Given the description of an element on the screen output the (x, y) to click on. 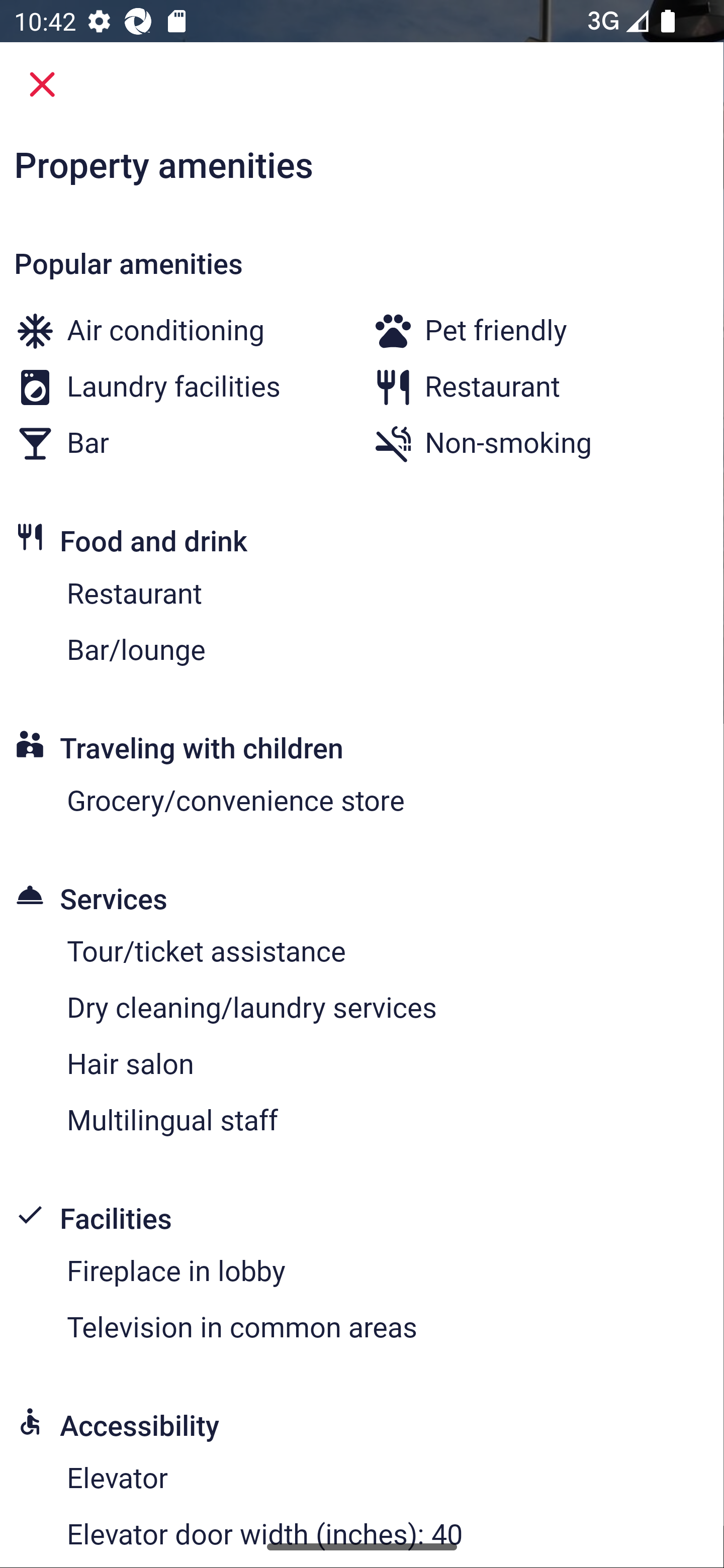
Close (42, 84)
